Given the description of an element on the screen output the (x, y) to click on. 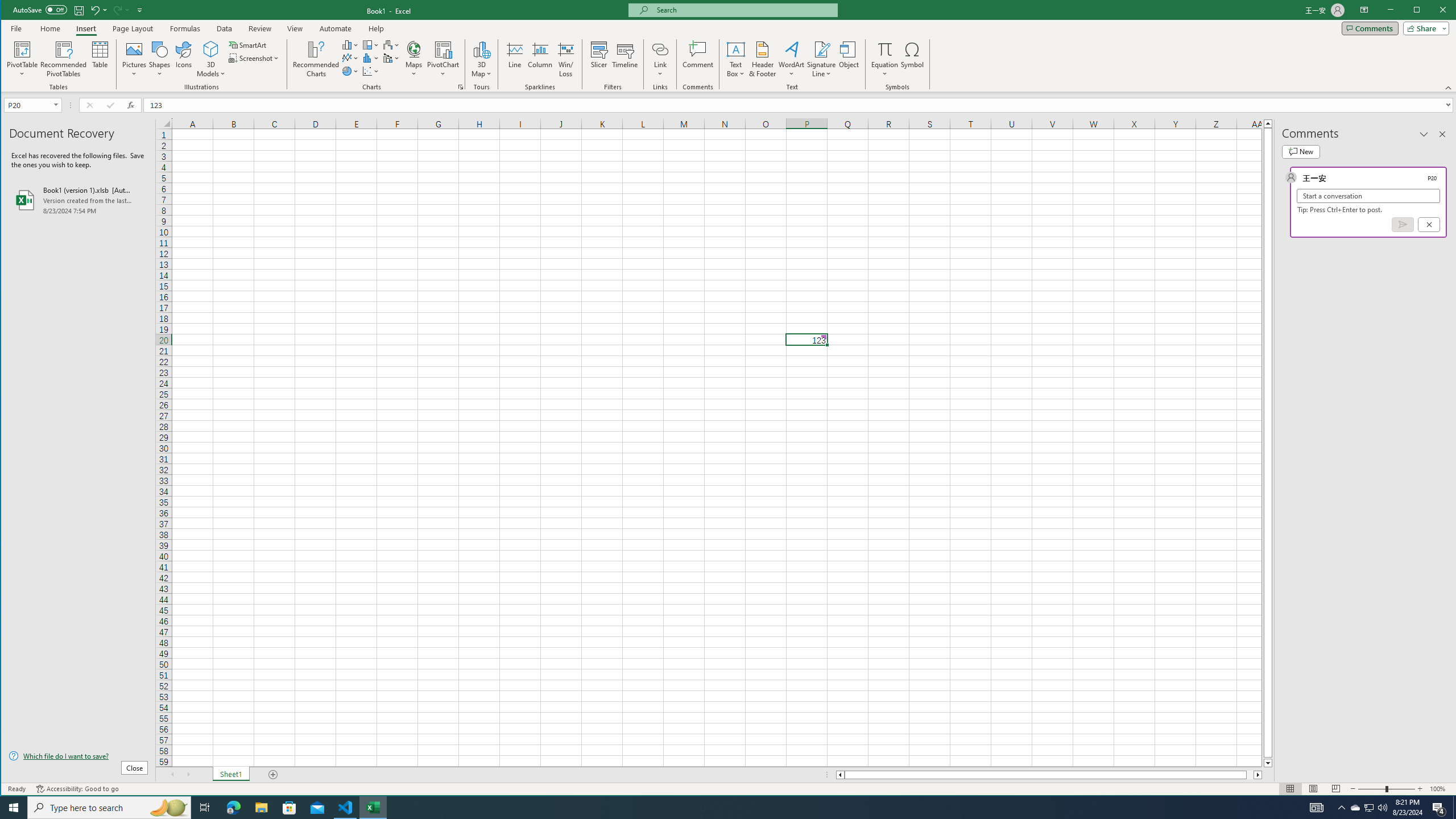
Maps (413, 59)
Recommended Charts (460, 86)
User Promoted Notification Area (1355, 807)
Timeline (1368, 807)
Line (625, 59)
Start (514, 59)
Signature Line (13, 807)
